Given the description of an element on the screen output the (x, y) to click on. 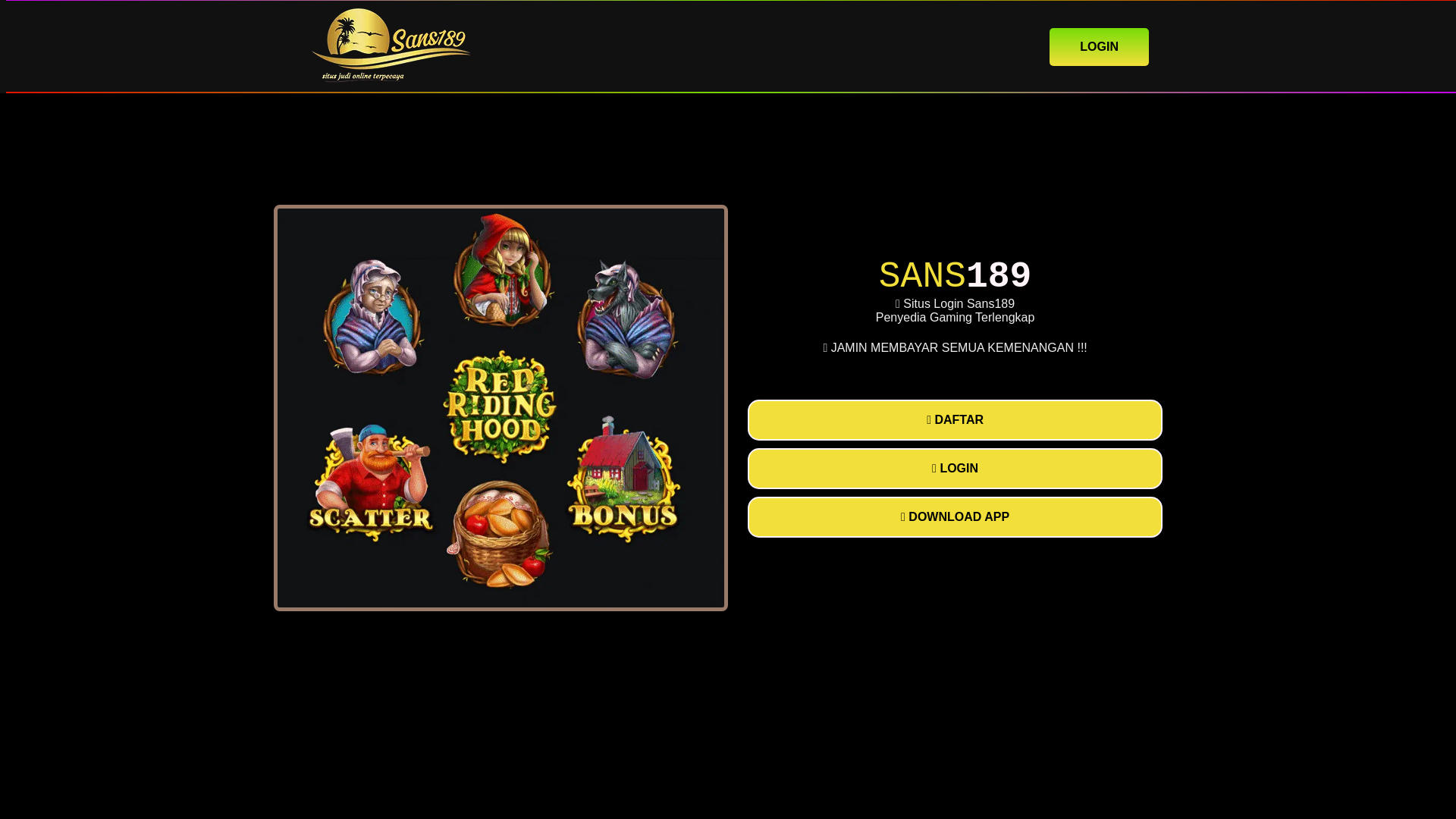
DOWNLOAD APP (954, 516)
LOGIN (954, 467)
DAFTAR (954, 419)
LOGIN (1098, 46)
